Given the description of an element on the screen output the (x, y) to click on. 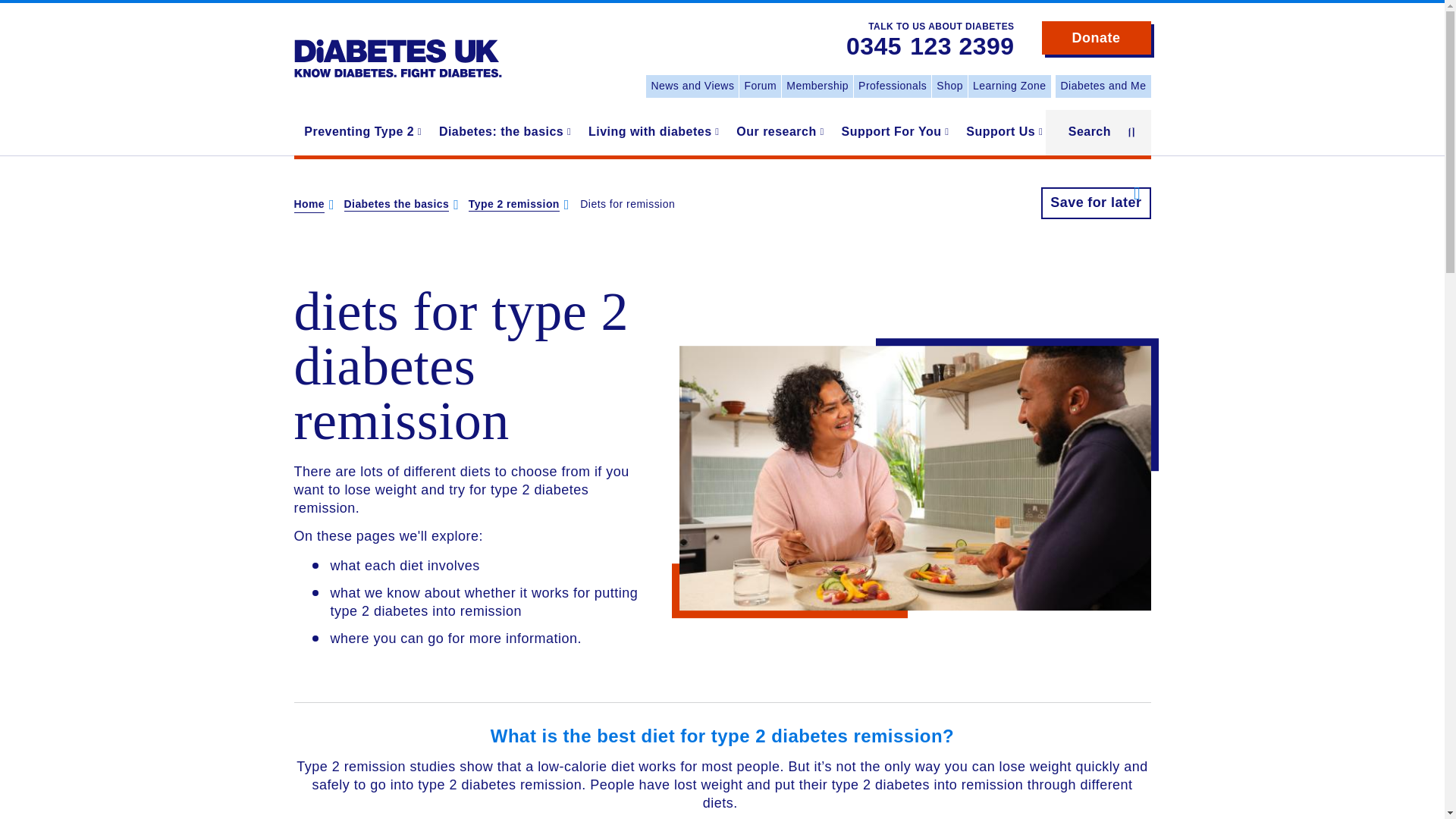
Preventing Type 2 (361, 132)
News and Views (692, 86)
Donate (1096, 37)
Membership (817, 86)
Learning Zone (1009, 86)
Forum (759, 86)
Shop (949, 86)
Professionals (892, 86)
Diabetes: the basics (503, 132)
0345123 2399 (929, 46)
Home (398, 47)
Diabetes and Me (1102, 86)
